Given the description of an element on the screen output the (x, y) to click on. 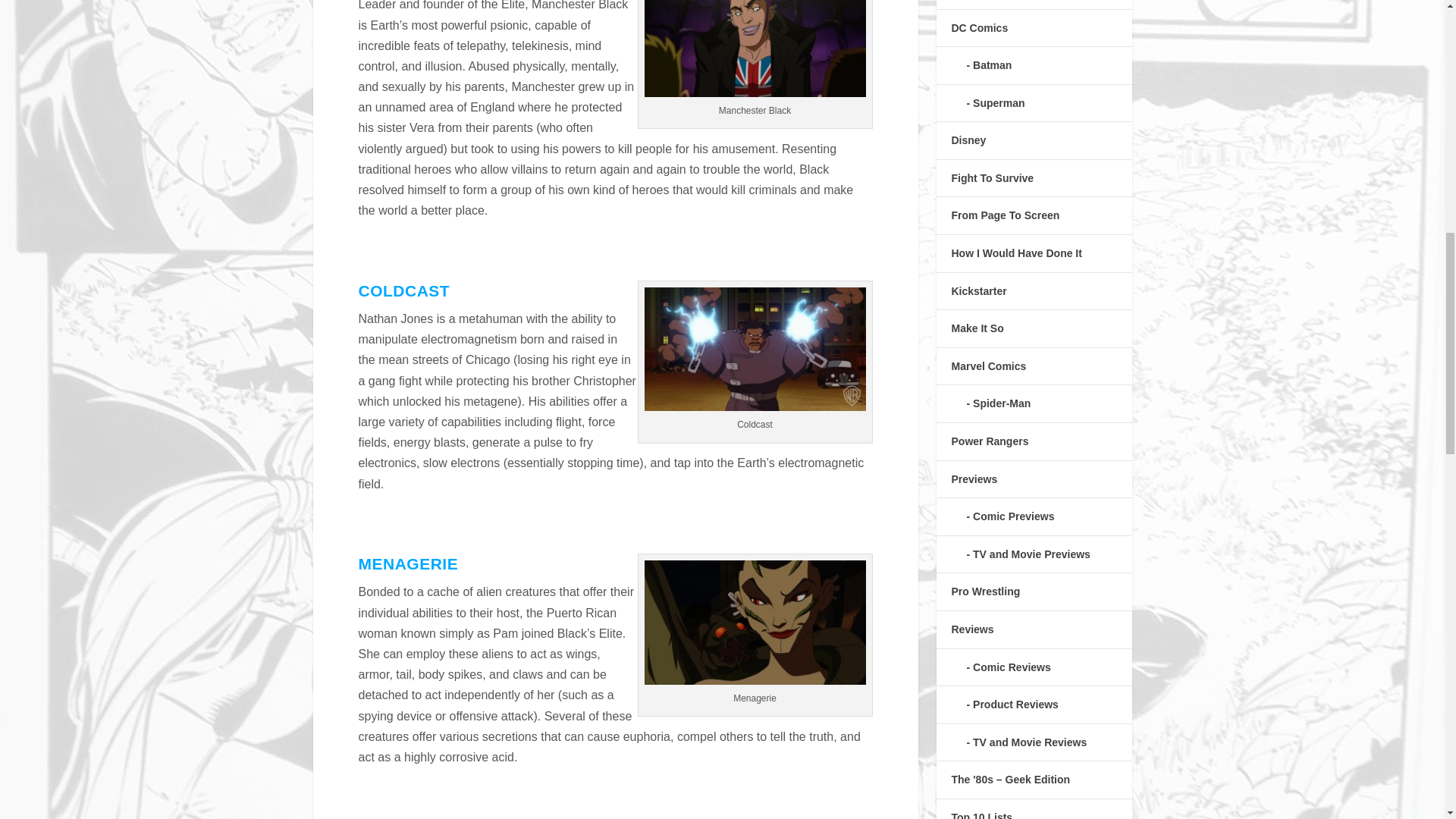
Menagerie (755, 622)
Coldcast (755, 349)
Manchester (755, 48)
